Given the description of an element on the screen output the (x, y) to click on. 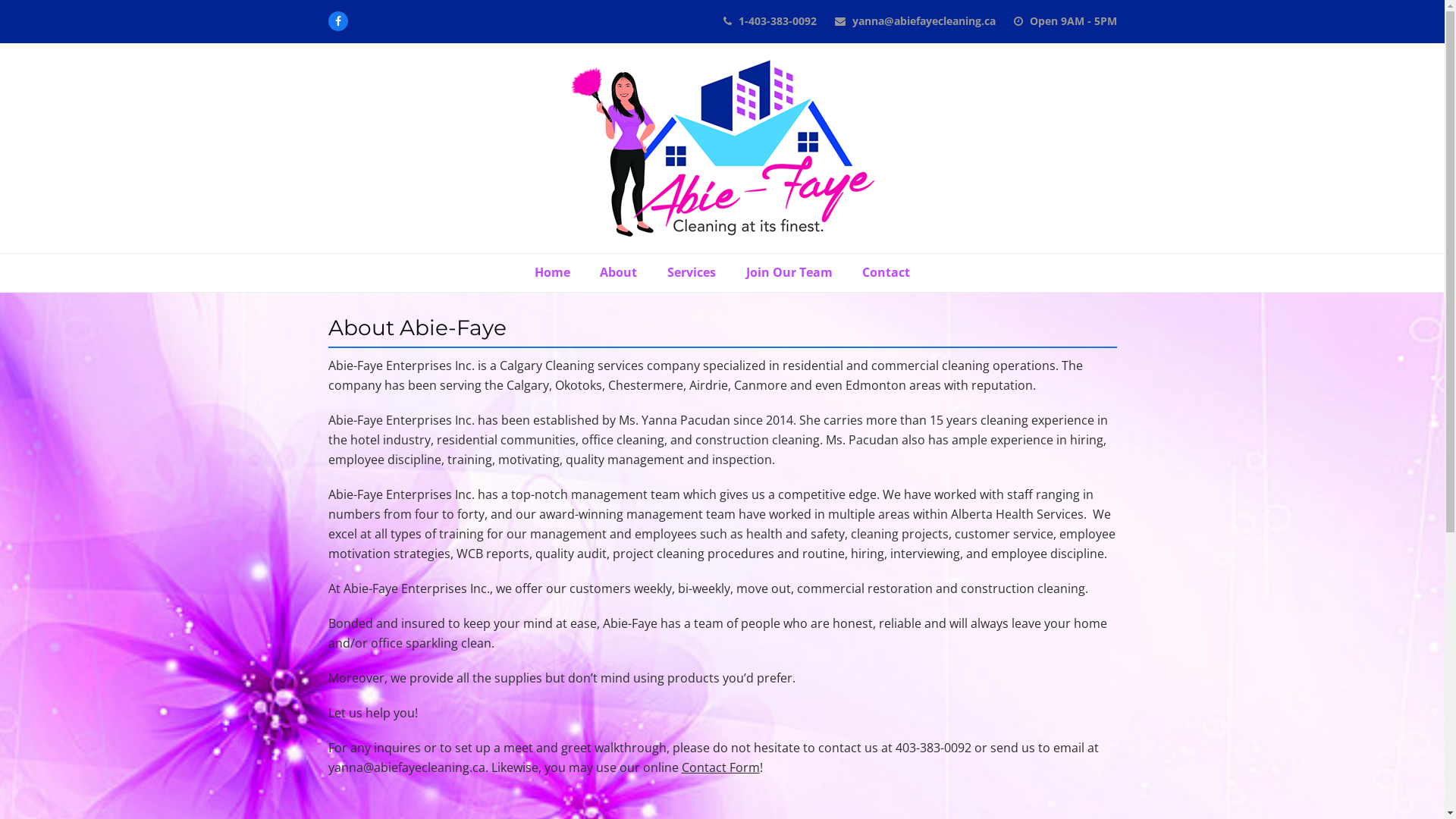
Home Element type: text (551, 272)
Services Element type: text (691, 272)
Facebook Element type: text (337, 21)
Contact Element type: text (885, 272)
Contact Form Element type: text (719, 766)
About Element type: text (618, 272)
Join Our Team Element type: text (789, 272)
